Given the description of an element on the screen output the (x, y) to click on. 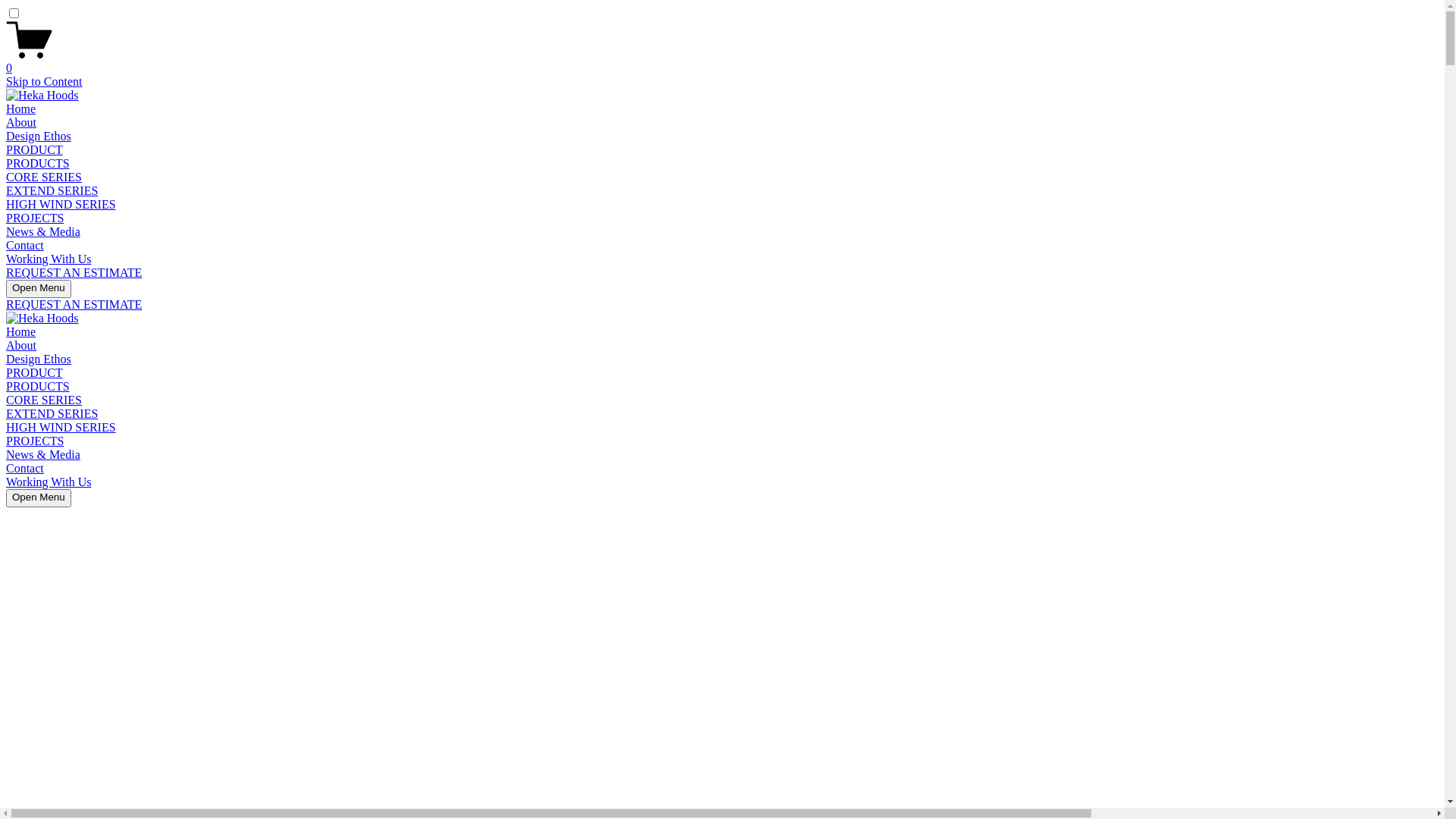
REQUEST AN ESTIMATE Element type: text (73, 272)
About Element type: text (21, 344)
EXTEND SERIES Element type: text (51, 190)
Contact Element type: text (24, 467)
PRODUCT Element type: text (34, 372)
About Element type: text (21, 122)
HIGH WIND SERIES Element type: text (61, 426)
Working With Us Element type: text (48, 258)
REQUEST AN ESTIMATE Element type: text (73, 304)
Home Element type: text (20, 108)
HIGH WIND SERIES Element type: text (61, 203)
News & Media Element type: text (43, 454)
PRODUCTS Element type: text (37, 162)
Contact Element type: text (24, 244)
CORE SERIES Element type: text (43, 399)
Design Ethos Element type: text (38, 135)
Home Element type: text (20, 331)
Open Menu Element type: text (38, 498)
Working With Us Element type: text (48, 481)
EXTEND SERIES Element type: text (51, 413)
Design Ethos Element type: text (38, 358)
0 Element type: text (722, 61)
PRODUCT Element type: text (34, 149)
PROJECTS Element type: text (34, 440)
CORE SERIES Element type: text (43, 176)
PRODUCTS Element type: text (37, 385)
Skip to Content Element type: text (43, 81)
Open Menu Element type: text (38, 288)
News & Media Element type: text (43, 231)
PROJECTS Element type: text (34, 217)
